Given the description of an element on the screen output the (x, y) to click on. 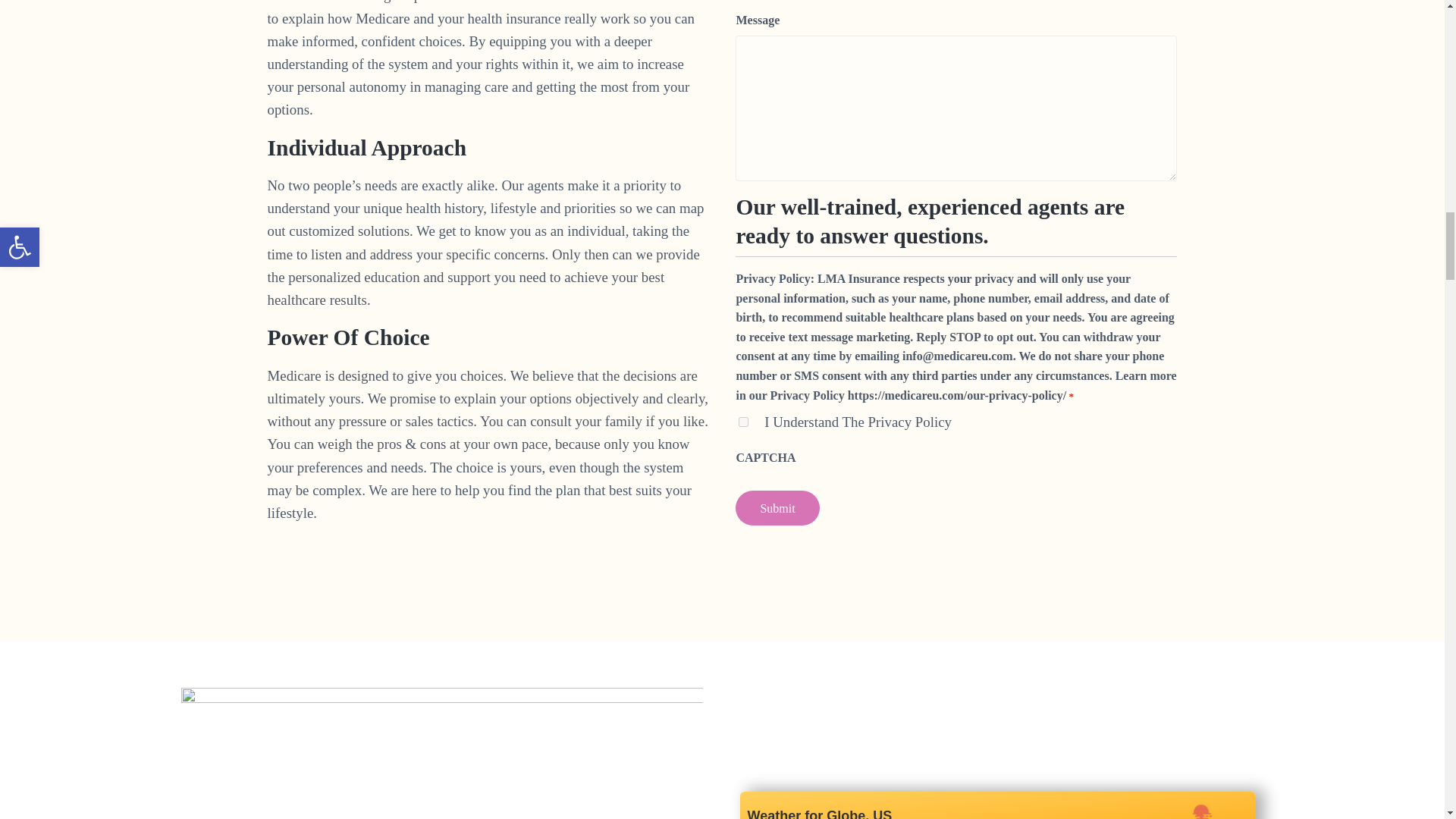
1 (743, 421)
Submit (776, 507)
Submit (776, 507)
